Given the description of an element on the screen output the (x, y) to click on. 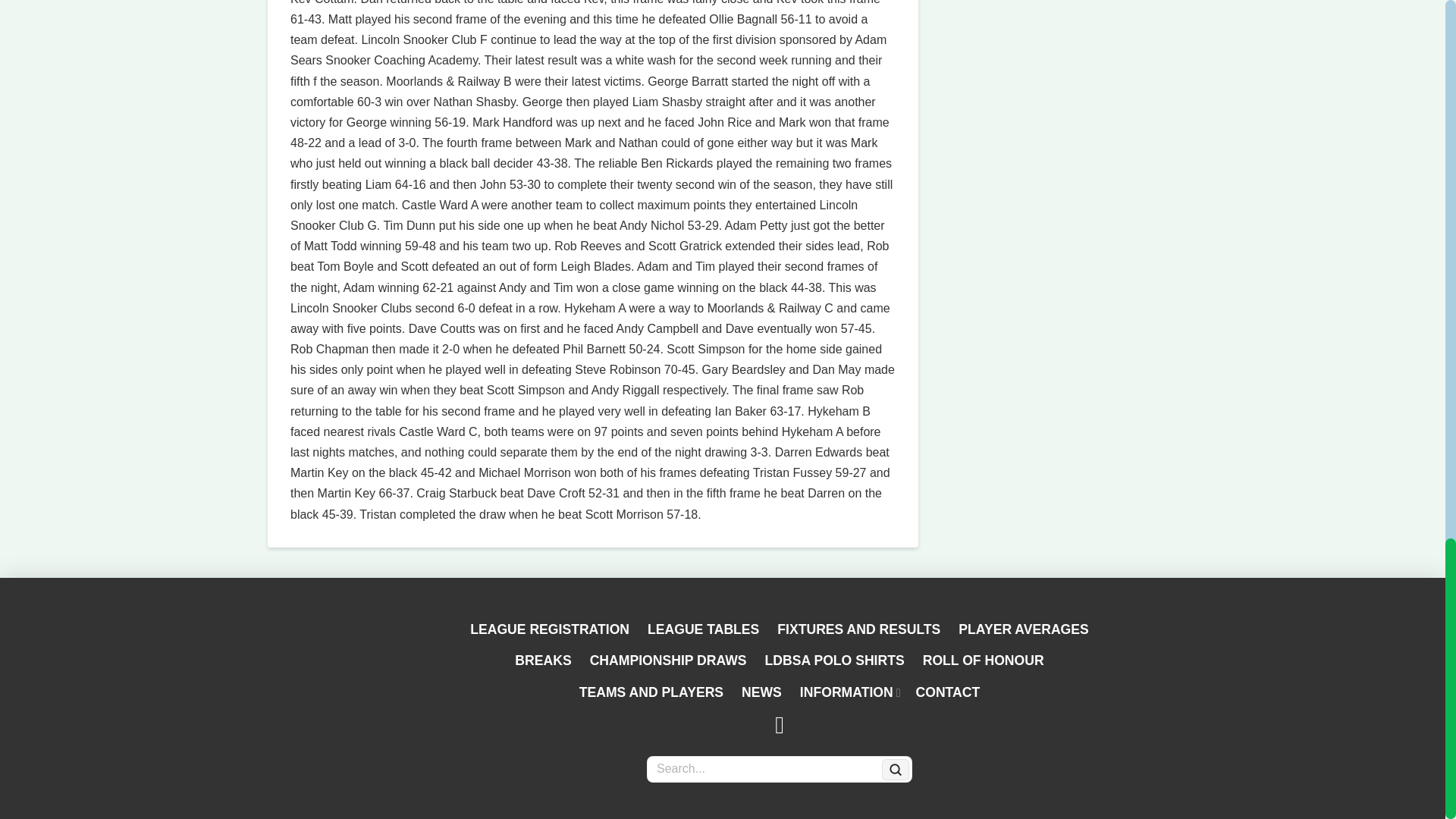
LDBSA POLO SHIRTS (834, 661)
INFORMATION (848, 693)
LEAGUE REGISTRATION (550, 630)
PLAYER AVERAGES (1023, 630)
TEAMS AND PLAYERS (651, 693)
NEWS (761, 693)
ROLL OF HONOUR (983, 661)
LDBSA (400, 698)
CHAMPIONSHIP DRAWS (667, 661)
LEAGUE TABLES (703, 630)
FIXTURES AND RESULTS (858, 630)
BREAKS (542, 661)
